Given the description of an element on the screen output the (x, y) to click on. 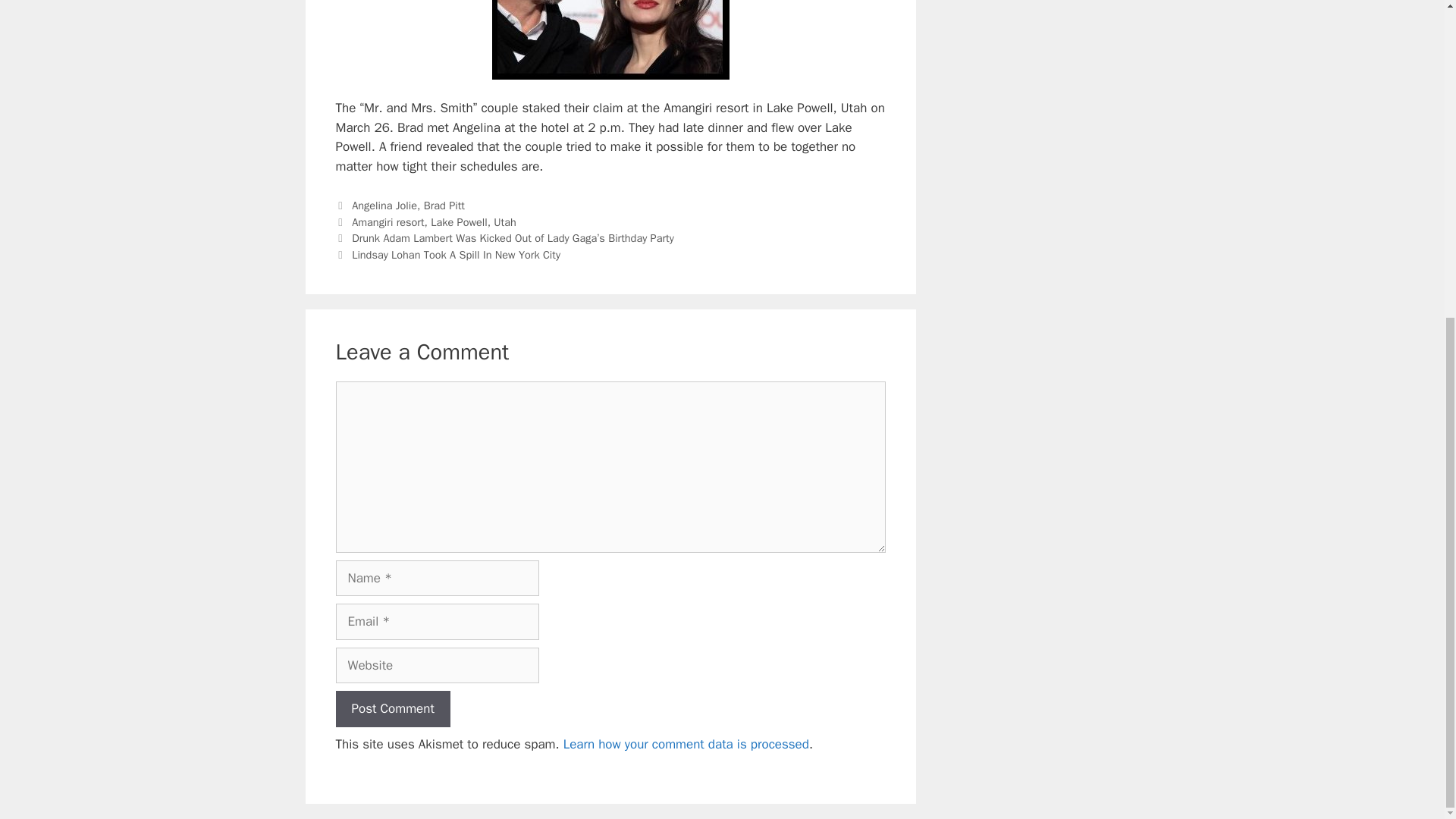
Angelina Jolie (384, 205)
Lindsay Lohan Took A Spill In New York City (456, 254)
Learn how your comment data is processed (686, 744)
Lake Powell (458, 222)
Brad Pitt (443, 205)
Amangiri resort (387, 222)
Post Comment (391, 709)
Utah (504, 222)
Post Comment (391, 709)
